Given the description of an element on the screen output the (x, y) to click on. 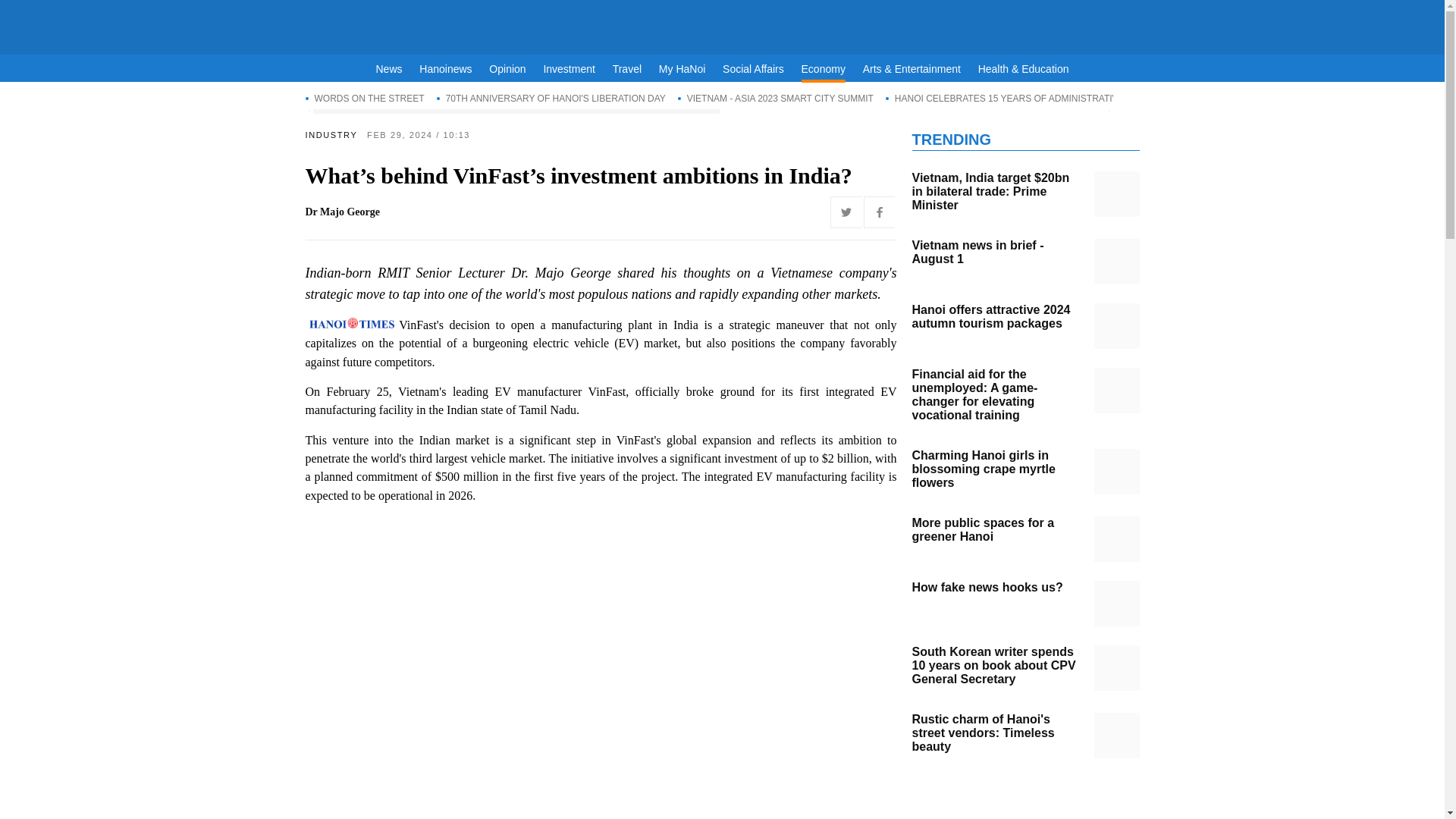
Social Affairs (753, 69)
Investment (568, 69)
WORDS ON THE STREET (363, 98)
My HaNoi (681, 69)
News (389, 69)
Hanoi Times (721, 24)
Opinion (507, 69)
Vietnam news in brief - August 1 (1115, 261)
70th anniversary of Hanoi's Liberation Day (550, 98)
Hanoinews (445, 69)
Economy (823, 70)
Hanoi offers attractive 2024 autumn tourism packages  (1115, 325)
Travel (627, 69)
